Given the description of an element on the screen output the (x, y) to click on. 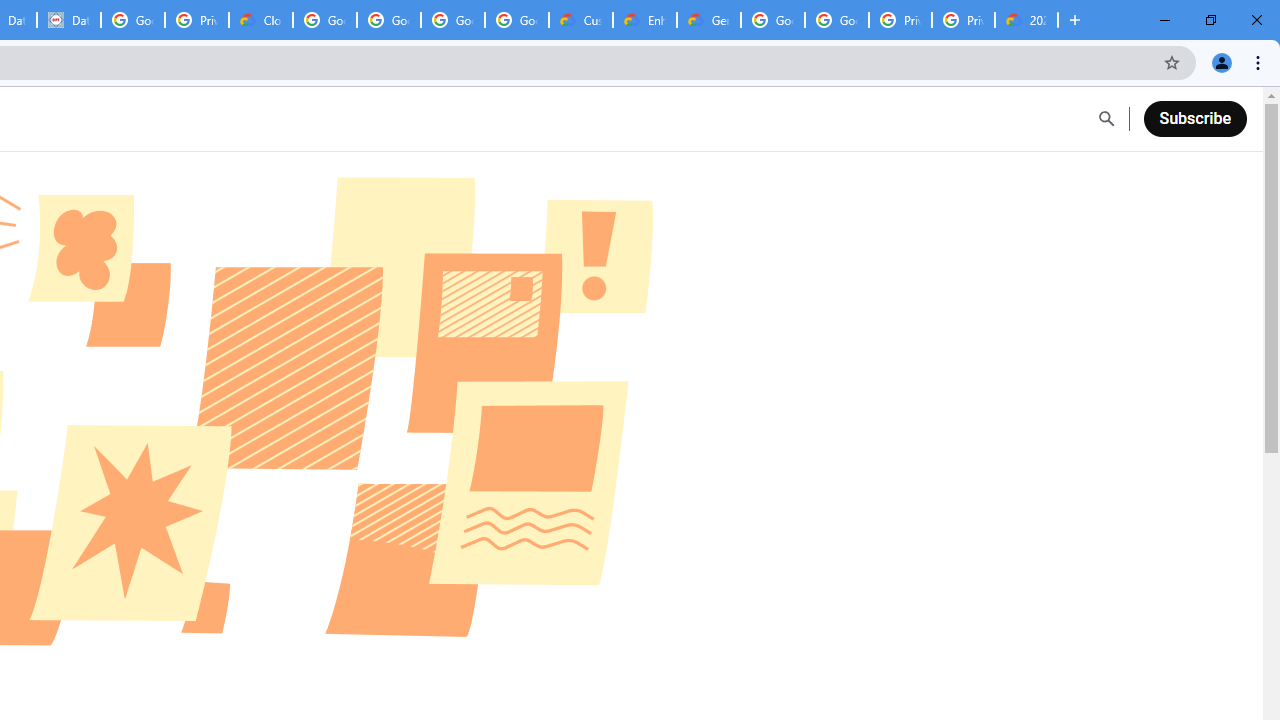
Customer Care | Google Cloud (581, 20)
Subscribe (1194, 118)
Cloud Data Processing Addendum | Google Cloud (261, 20)
Gemini for Business and Developers | Google Cloud (709, 20)
